Given the description of an element on the screen output the (x, y) to click on. 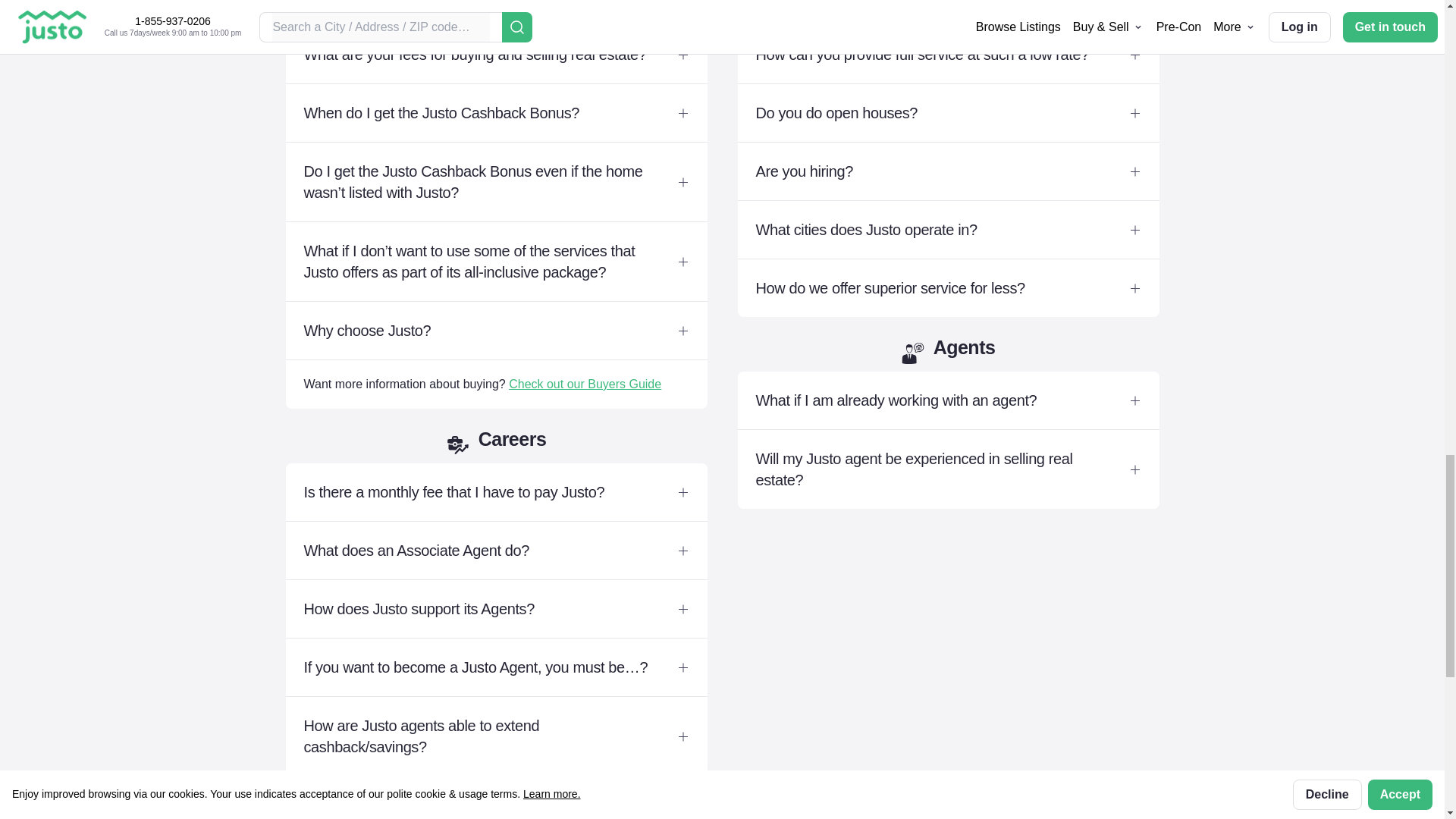
What if I am already working with an agent? (947, 400)
How can you provide full service at such a low rate? (947, 54)
Is there a monthly fee that I have to pay Justo? (495, 491)
Why choose Justo? (495, 330)
What are your fees for buying and selling real estate? (495, 54)
What cities does Justo operate in? (947, 229)
When do I get the Justo Cashback Bonus? (495, 112)
Do you do open houses? (947, 112)
How do we offer superior service for less? (947, 287)
Check out our Buyers Guide (584, 383)
